Given the description of an element on the screen output the (x, y) to click on. 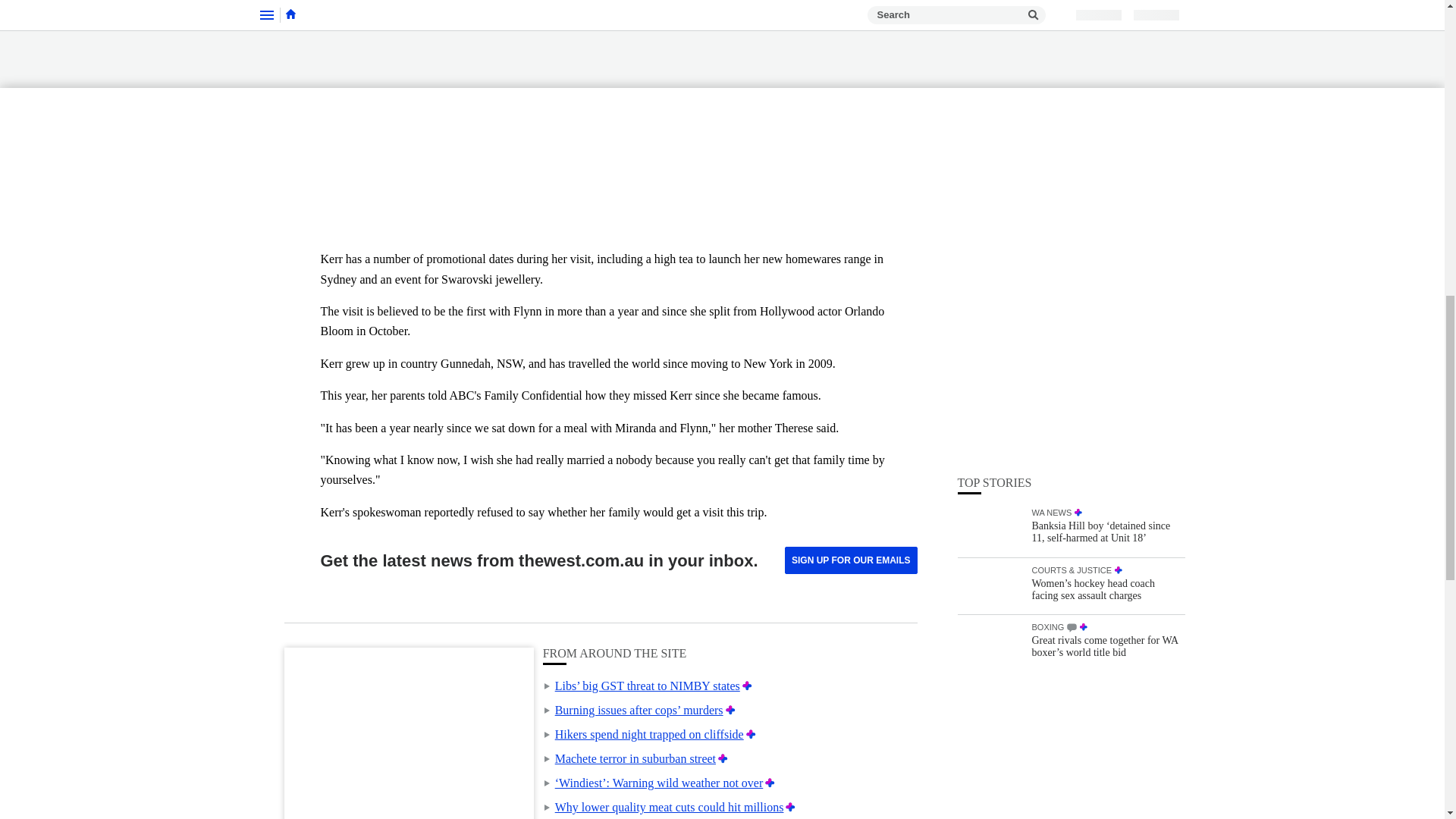
Premium (729, 709)
Premium (750, 734)
COMMENTS (1072, 225)
Premium (790, 807)
Premium (747, 685)
PREMIUM (1078, 111)
Premium (722, 758)
Premium (769, 782)
PREMIUM (1083, 225)
PREMIUM (1118, 168)
